Given the description of an element on the screen output the (x, y) to click on. 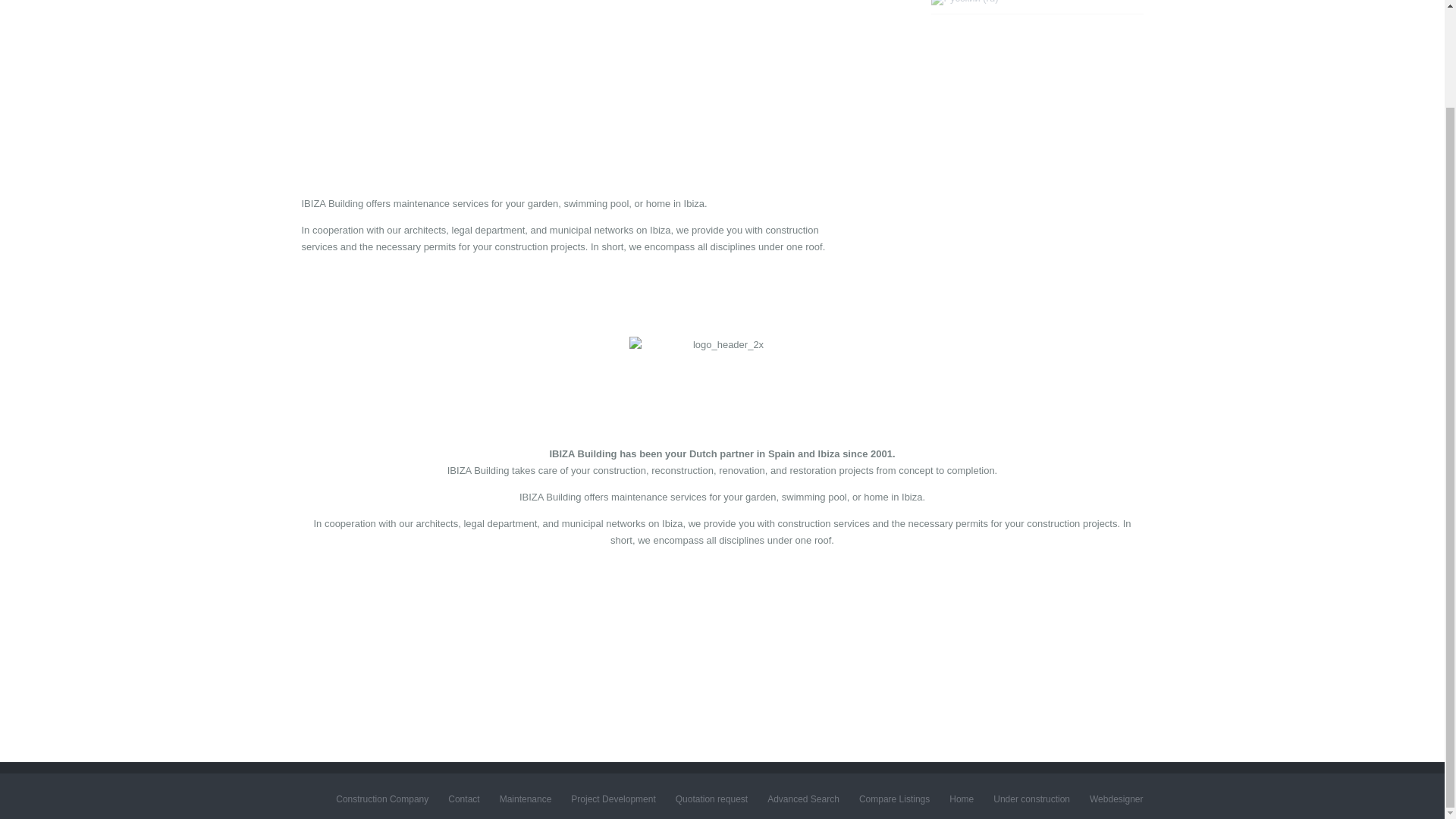
Contact (35, 119)
Project Development (64, 80)
Contact (463, 798)
Compare Listings (894, 798)
Construction Company (69, 11)
Project Development (612, 798)
Advanced Search (803, 798)
Maintenance (525, 798)
Maintenance (47, 42)
Quotation request (711, 798)
